Given the description of an element on the screen output the (x, y) to click on. 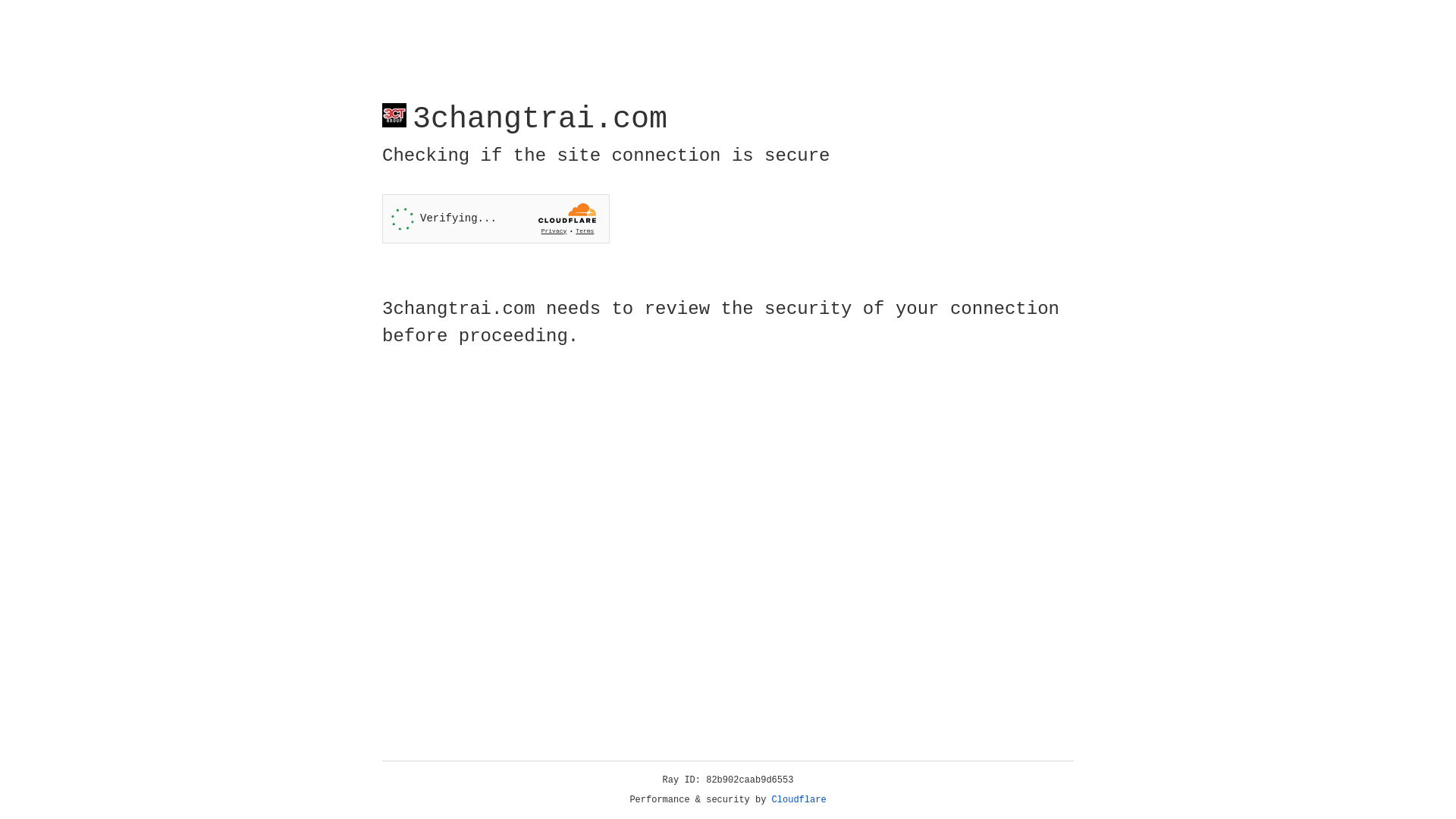
Cloudflare Element type: text (798, 799)
Widget containing a Cloudflare security challenge Element type: hover (495, 218)
